Given the description of an element on the screen output the (x, y) to click on. 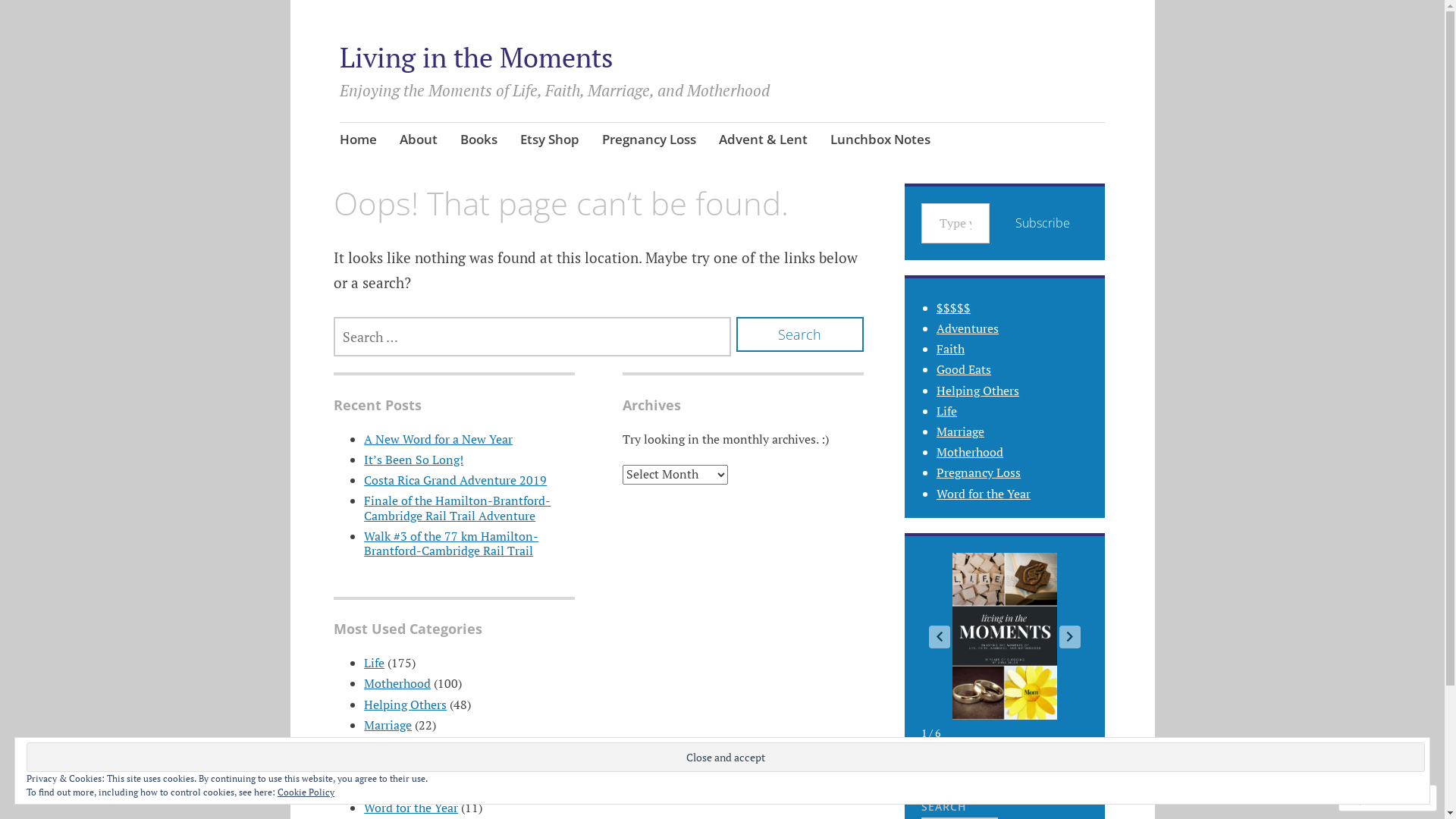
Pregnancy Loss Element type: text (978, 472)
Lunchbox Notes Element type: text (880, 140)
Life Element type: text (374, 662)
Search Element type: text (799, 333)
Etsy Shop Element type: text (549, 140)
Cookie Policy Element type: text (305, 791)
Faith Element type: text (950, 348)
Motherhood Element type: text (397, 682)
Helping Others Element type: text (977, 390)
Motherhood Element type: text (969, 451)
$$$$$ Element type: text (381, 765)
Life Element type: text (946, 410)
Faith Element type: text (378, 745)
A New Word for a New Year Element type: text (438, 438)
Word for the Year Element type: text (411, 807)
Pregnancy Loss Element type: text (406, 786)
Close and accept Element type: text (725, 756)
Living in the Moments Element type: text (476, 57)
Costa Rica Grand Adventure 2019 Element type: text (455, 479)
Good Eats Element type: text (963, 368)
Marriage Element type: text (387, 724)
Advent & Lent Element type: text (762, 140)
Marriage Element type: text (960, 431)
Books Element type: text (478, 140)
Home Element type: text (357, 140)
Helping Others Element type: text (405, 704)
Walk #3 of the 77 km Hamilton-Brantford-Cambridge Rail Trail Element type: text (451, 542)
Word for the Year Element type: text (983, 493)
Subscribe Element type: text (1042, 223)
Pregnancy Loss Element type: text (649, 140)
Adventures Element type: text (967, 328)
Follow Element type: text (1372, 797)
$$$$$ Element type: text (953, 307)
About Element type: text (418, 140)
